Given the description of an element on the screen output the (x, y) to click on. 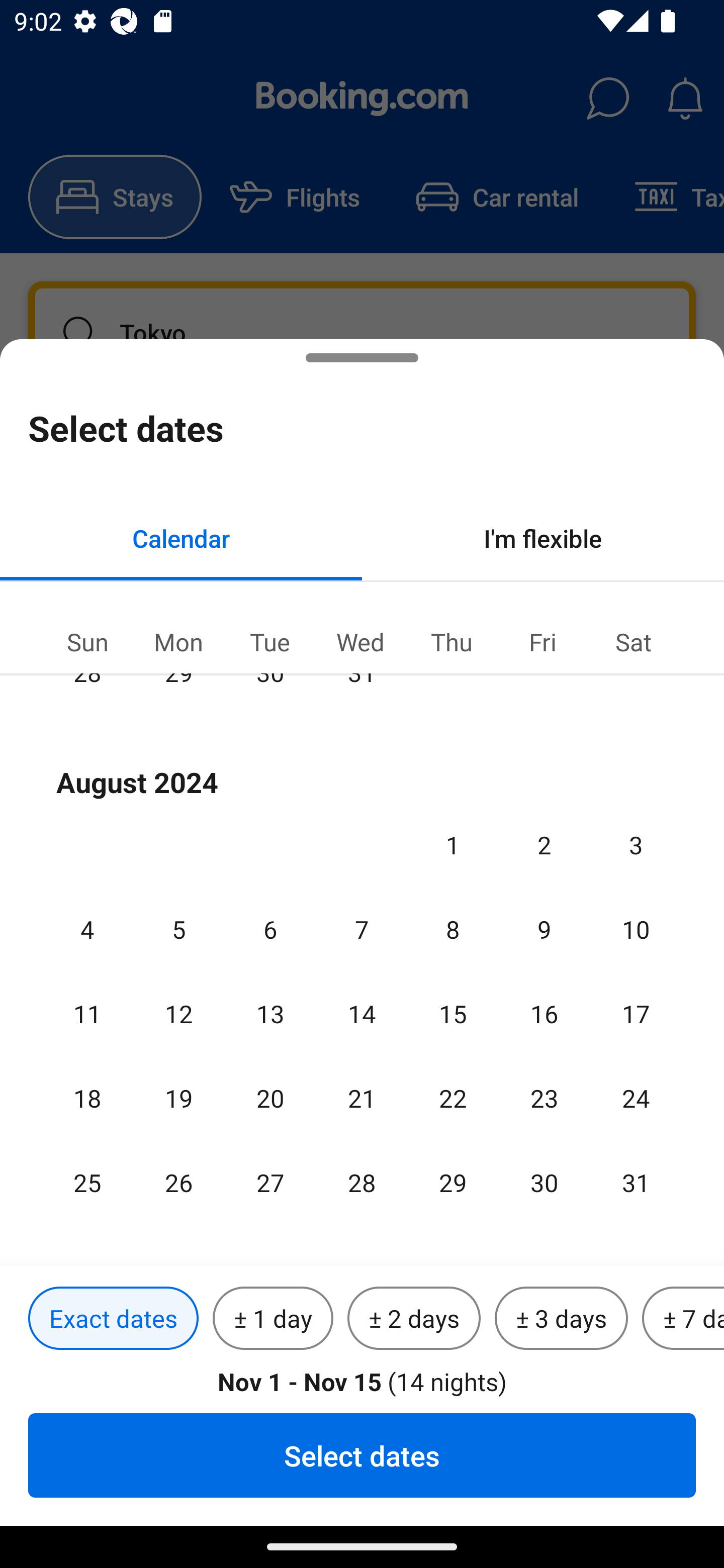
I'm flexible (543, 537)
Exact dates (113, 1318)
± 1 day (272, 1318)
± 2 days (413, 1318)
± 3 days (560, 1318)
± 7 days (683, 1318)
Select dates (361, 1454)
